Given the description of an element on the screen output the (x, y) to click on. 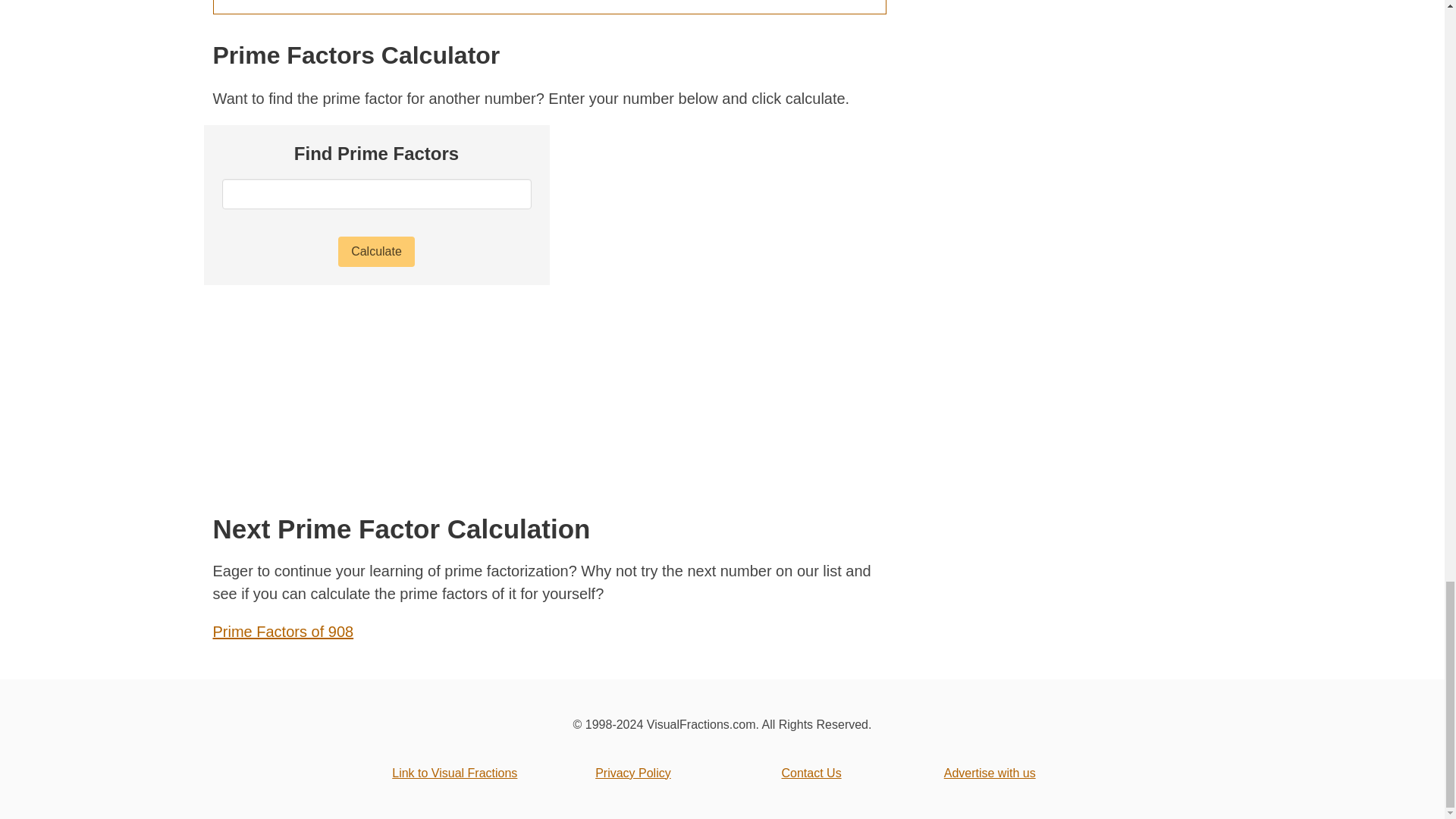
Calculate (375, 251)
